Given the description of an element on the screen output the (x, y) to click on. 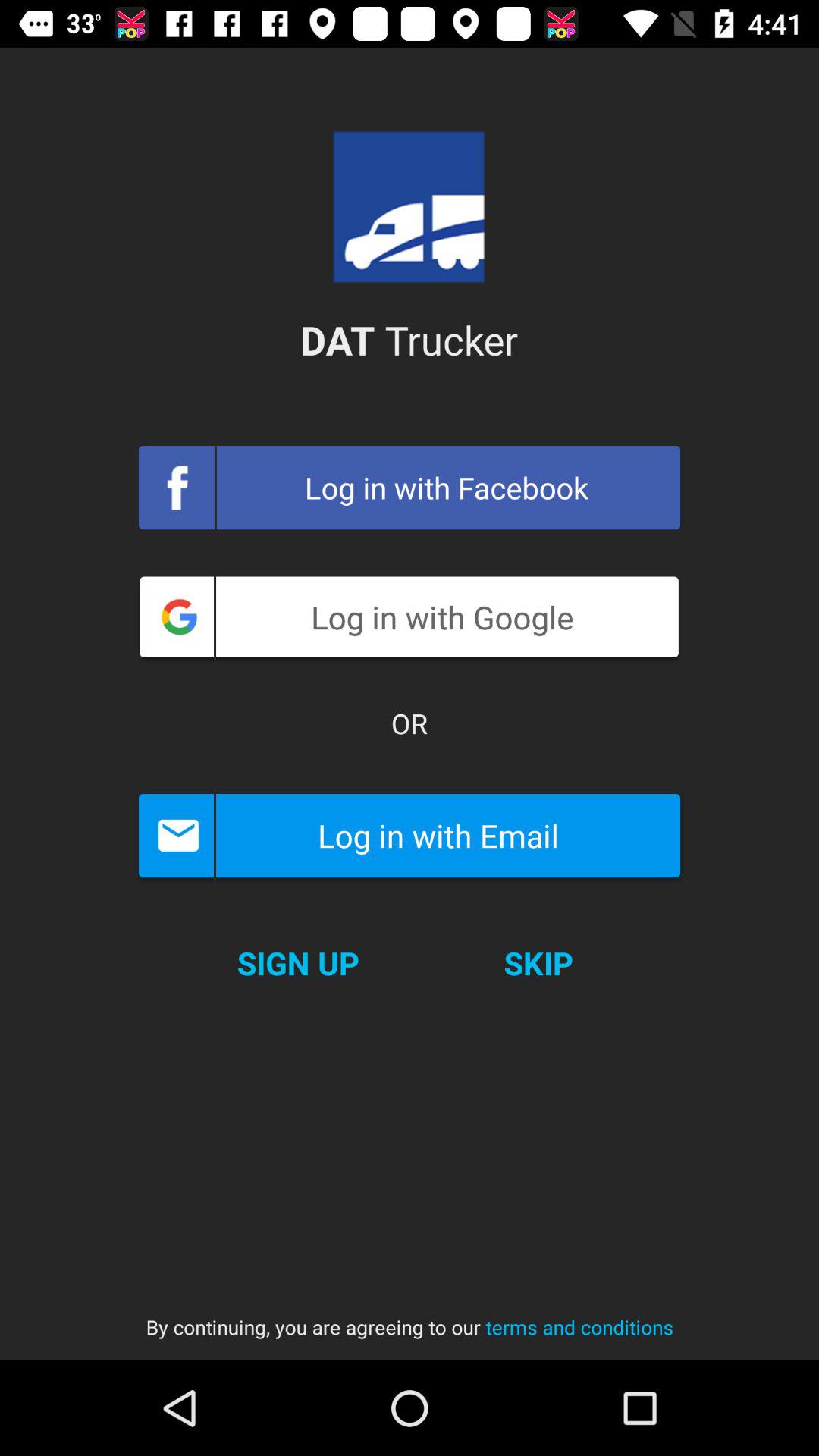
turn on the icon above the by continuing you icon (297, 962)
